Given the description of an element on the screen output the (x, y) to click on. 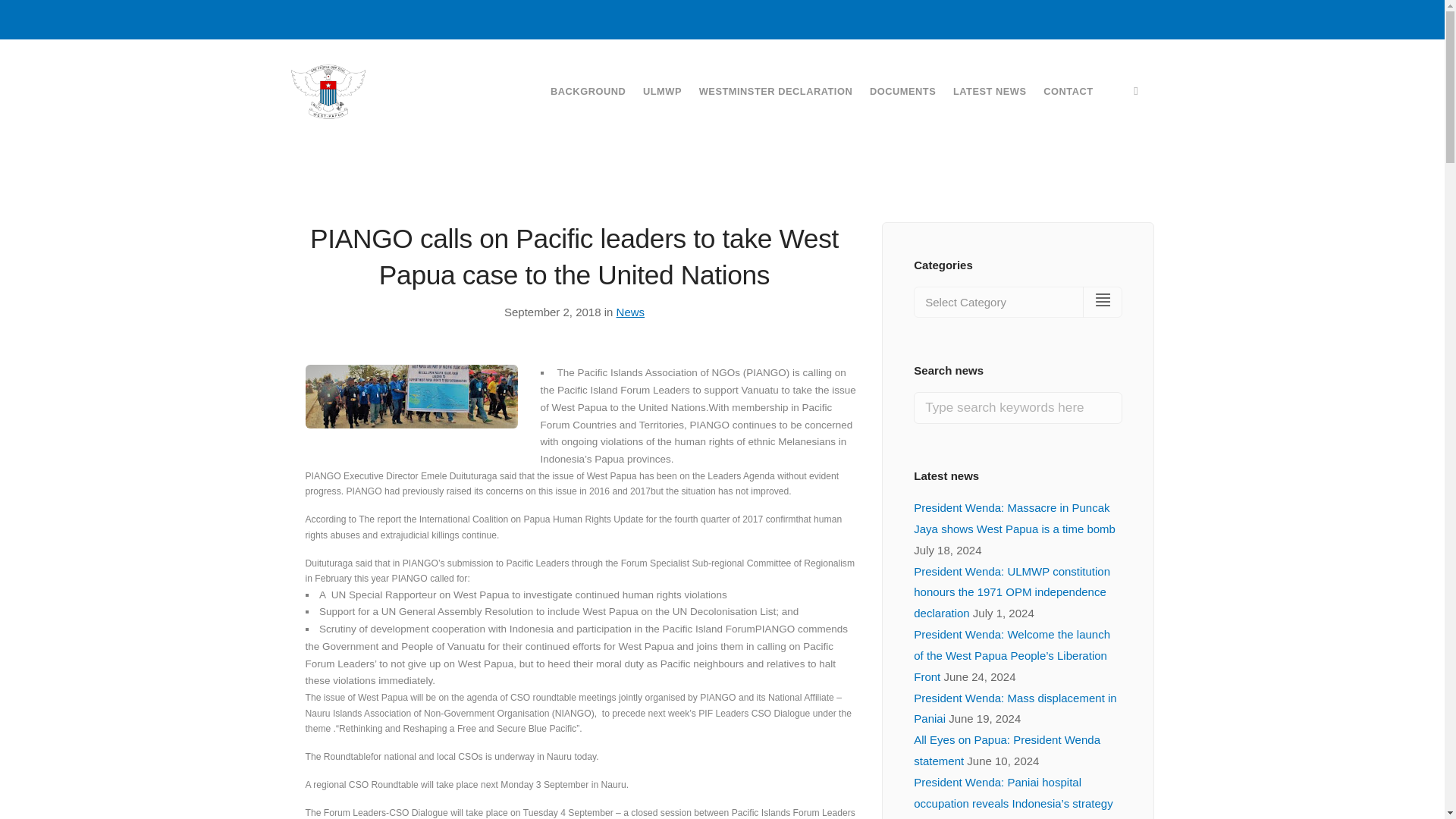
All Eyes on Papua: President Wenda statement (1007, 750)
WESTMINSTER DECLARATION (774, 91)
ULMWP (662, 91)
President Wenda: Mass displacement in Paniai (1015, 708)
CONTACT (1068, 91)
DOCUMENTS (902, 91)
News (630, 311)
LATEST NEWS (989, 91)
BACKGROUND (588, 91)
